Given the description of an element on the screen output the (x, y) to click on. 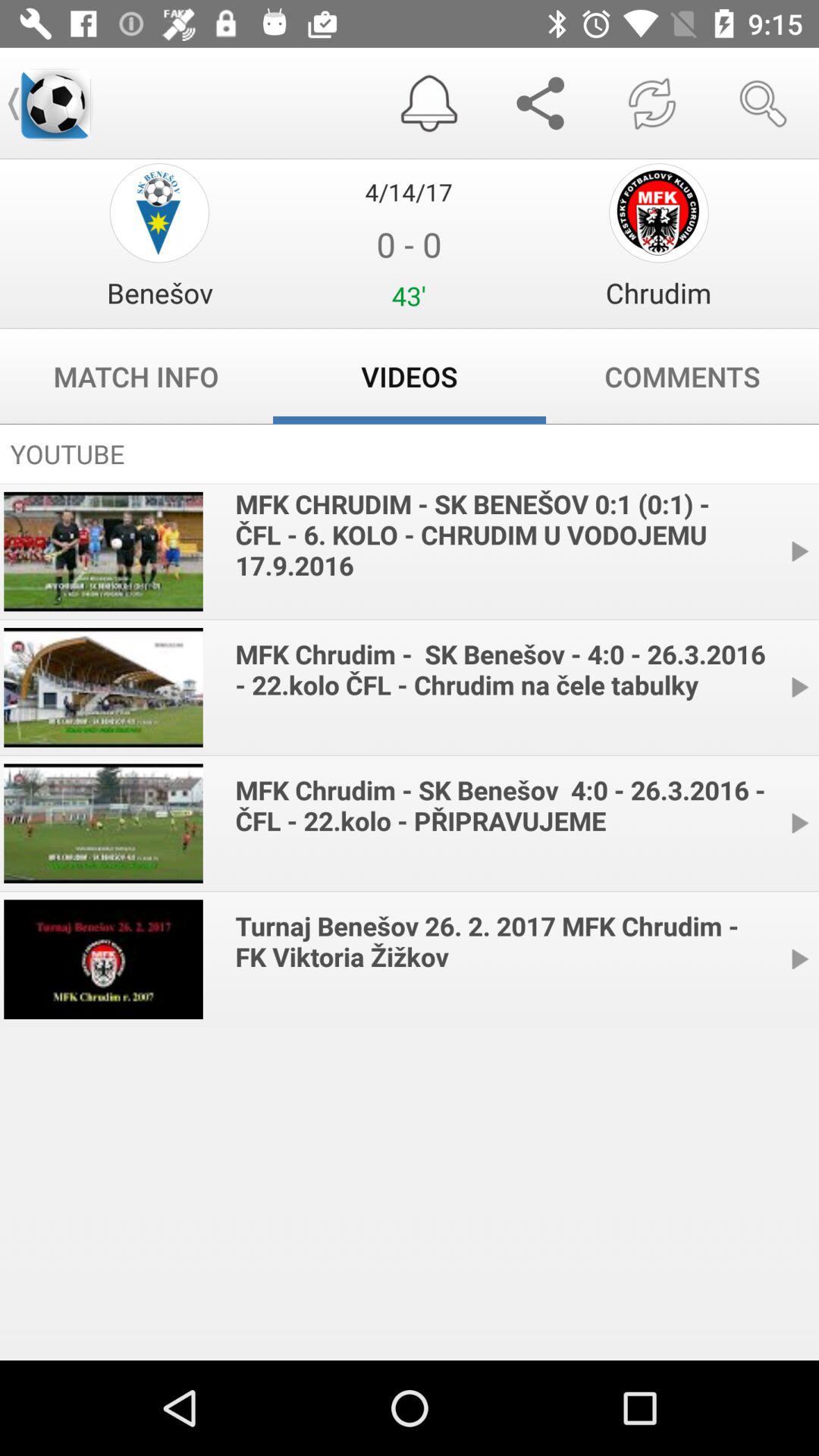
launch icon to the left of 0 - 0 (159, 292)
